Given the description of an element on the screen output the (x, y) to click on. 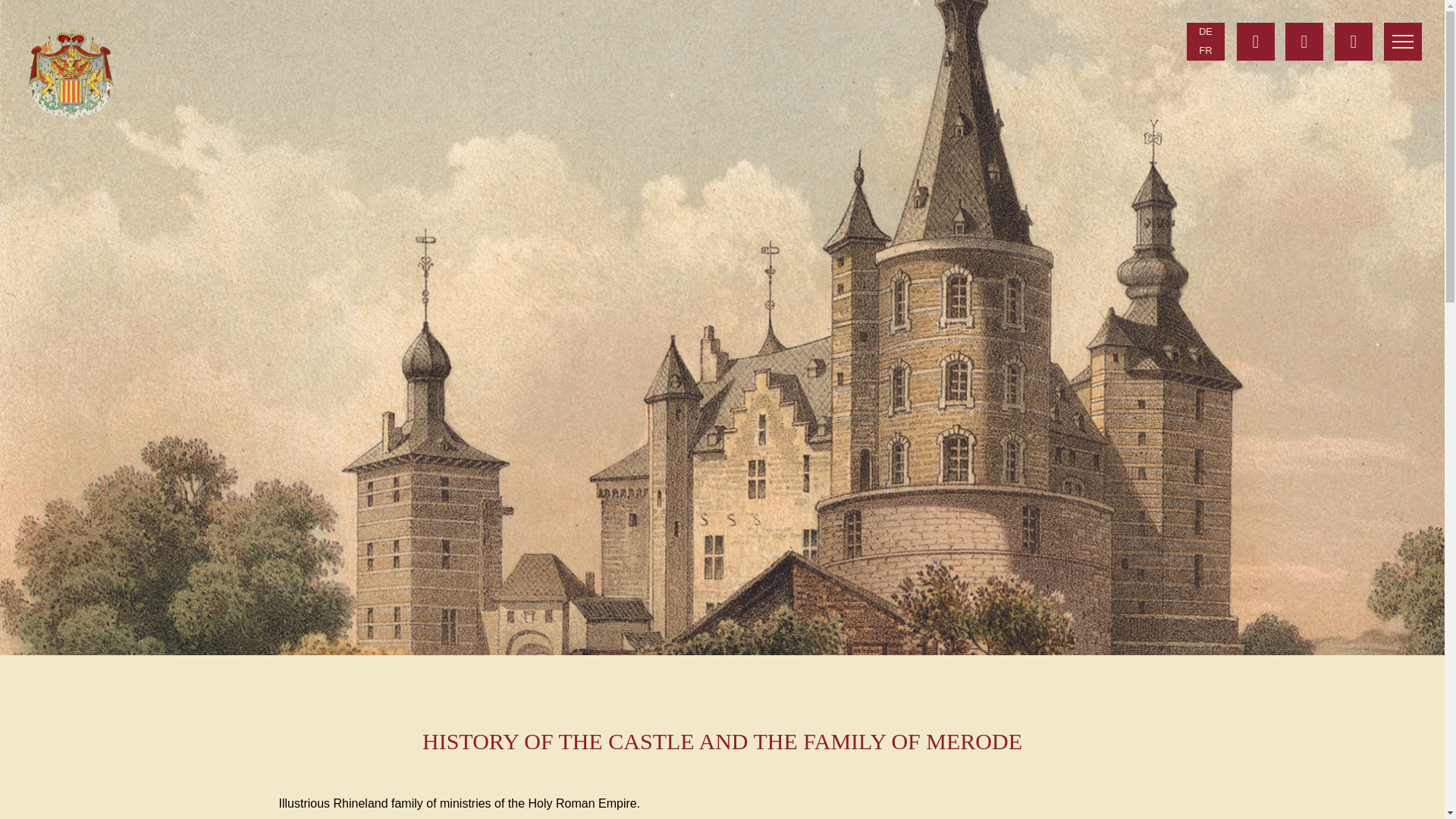
DE (1205, 31)
FR (1205, 50)
Deutsch (1205, 31)
